Given the description of an element on the screen output the (x, y) to click on. 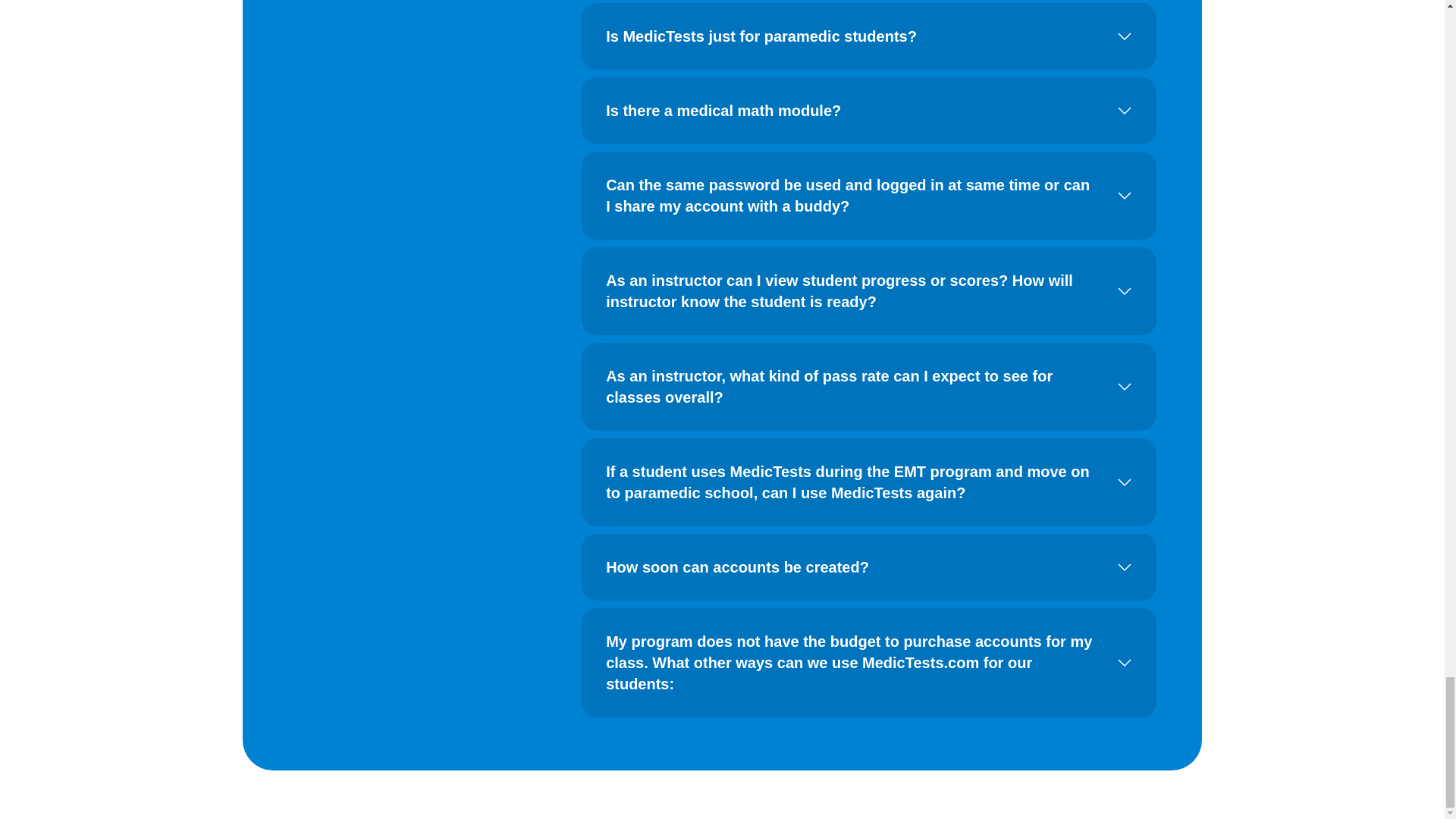
Is MedicTests just for paramedic students? (868, 36)
Is there a medical math module? (868, 110)
How soon can accounts be created? (868, 566)
